Given the description of an element on the screen output the (x, y) to click on. 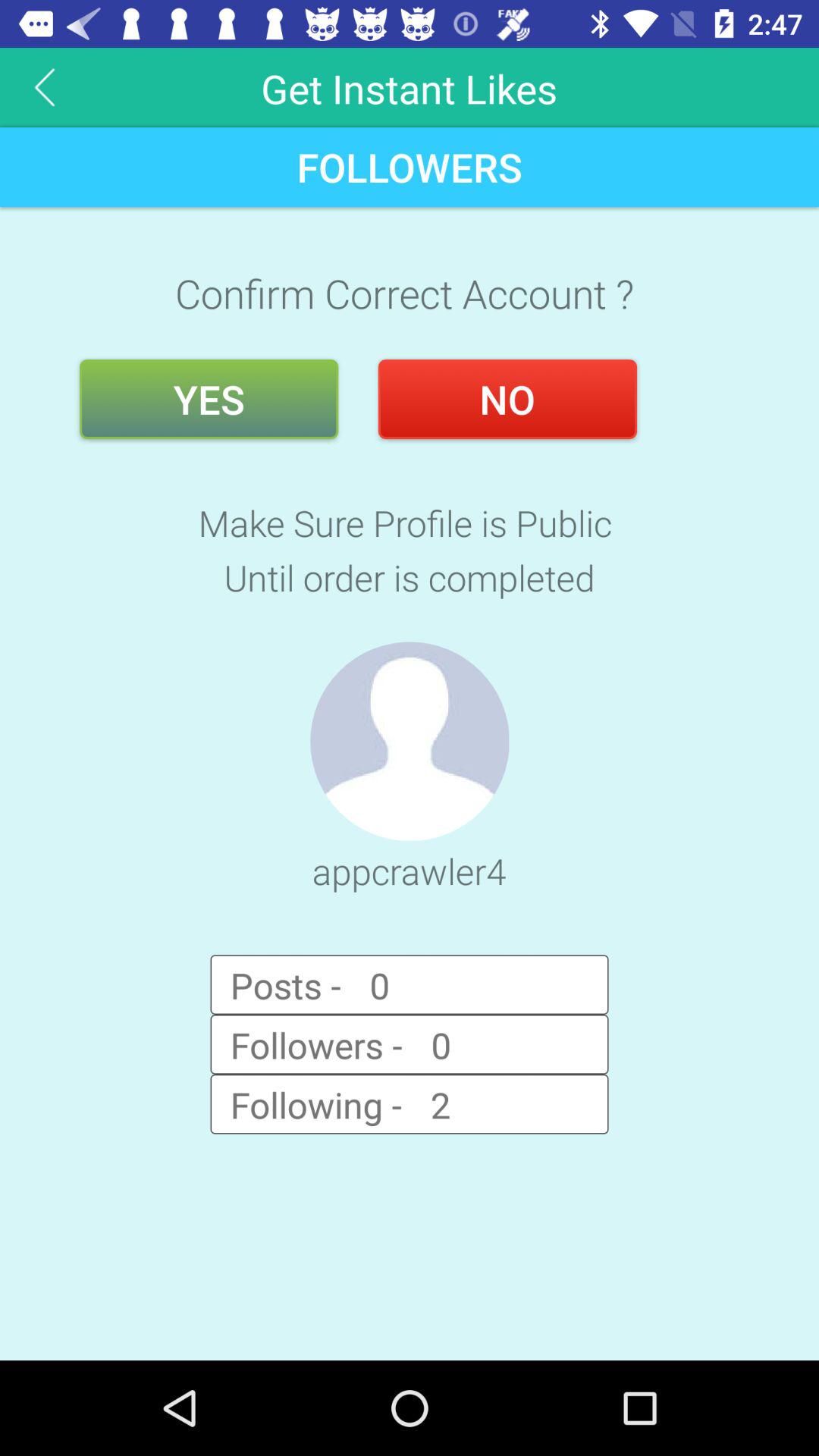
launch app below confirm correct account ?  icon (507, 399)
